Given the description of an element on the screen output the (x, y) to click on. 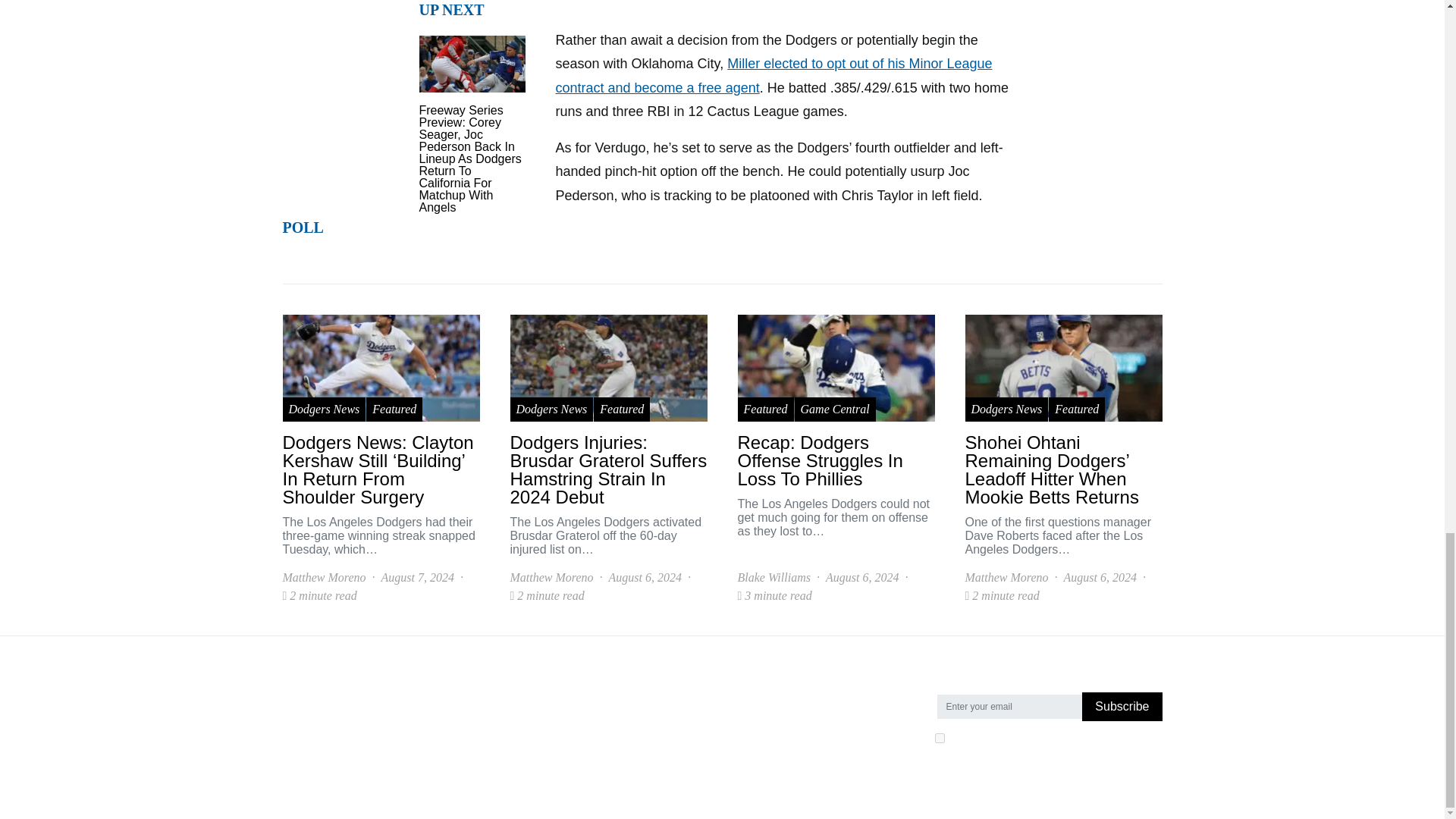
View all posts by Blake Williams (772, 577)
View all posts by Matthew Moreno (323, 577)
View all posts by Matthew Moreno (1005, 577)
on (938, 737)
View all posts by Matthew Moreno (550, 577)
